Given the description of an element on the screen output the (x, y) to click on. 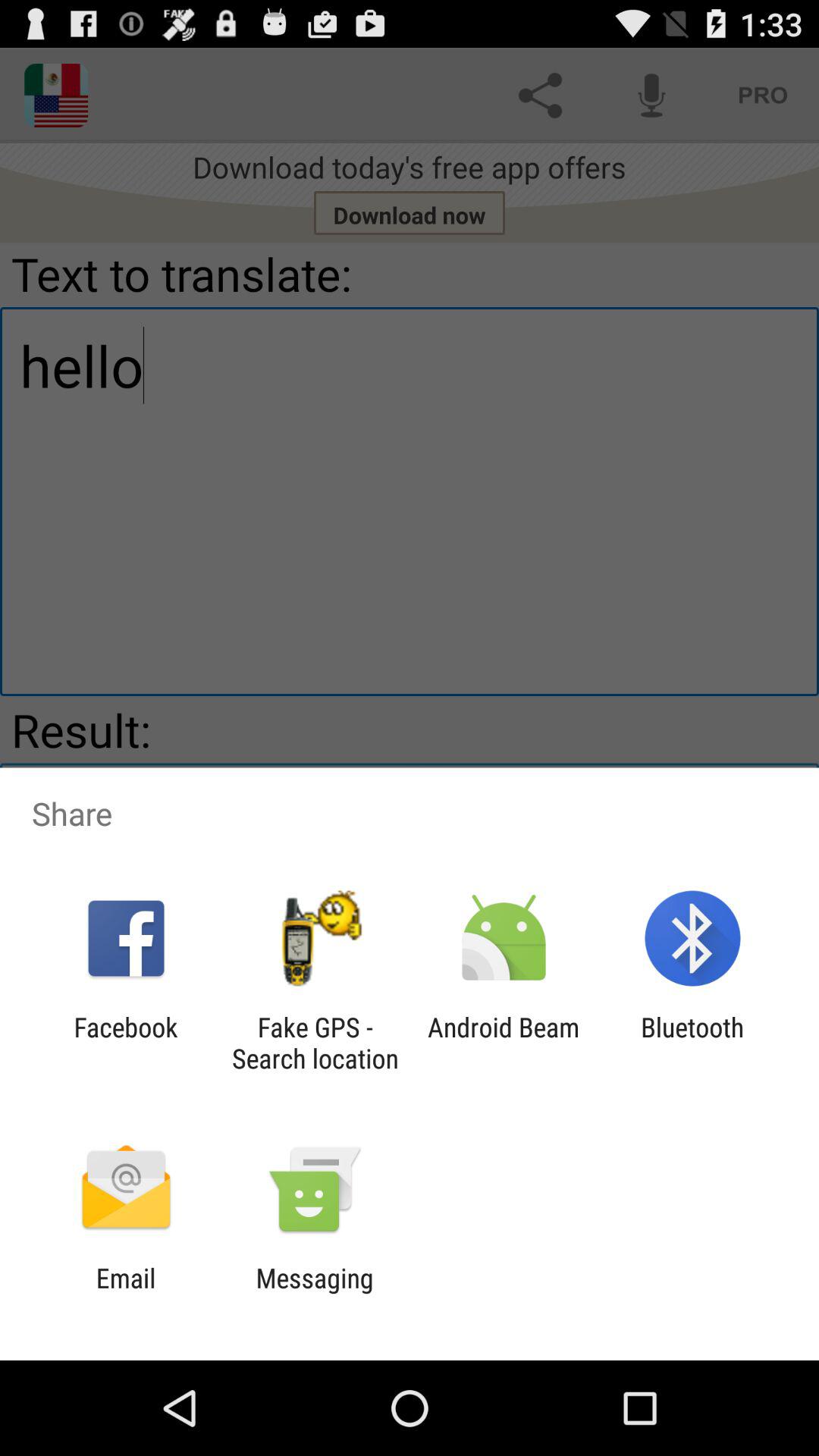
open item at the bottom right corner (691, 1042)
